Given the description of an element on the screen output the (x, y) to click on. 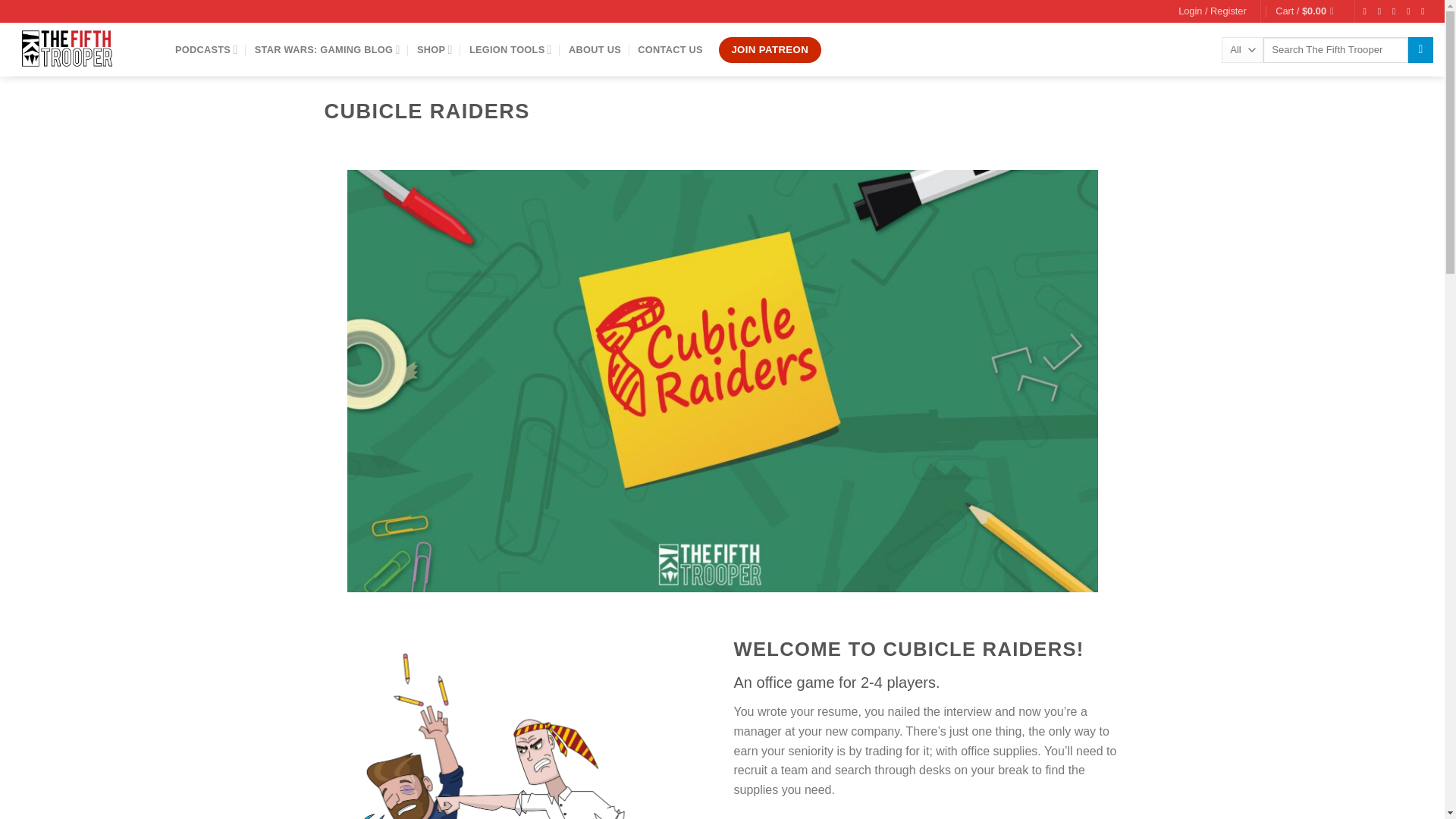
JOIN PATREON (770, 49)
PODCASTS (205, 49)
ABOUT US (595, 49)
SHOP (434, 49)
The Fifth Trooper - Tabletop Gaming Network (81, 49)
STAR WARS: GAMING BLOG (327, 49)
Search (1419, 49)
LEGION TOOLS (509, 49)
CONTACT US (670, 49)
Cart (1307, 11)
